Given the description of an element on the screen output the (x, y) to click on. 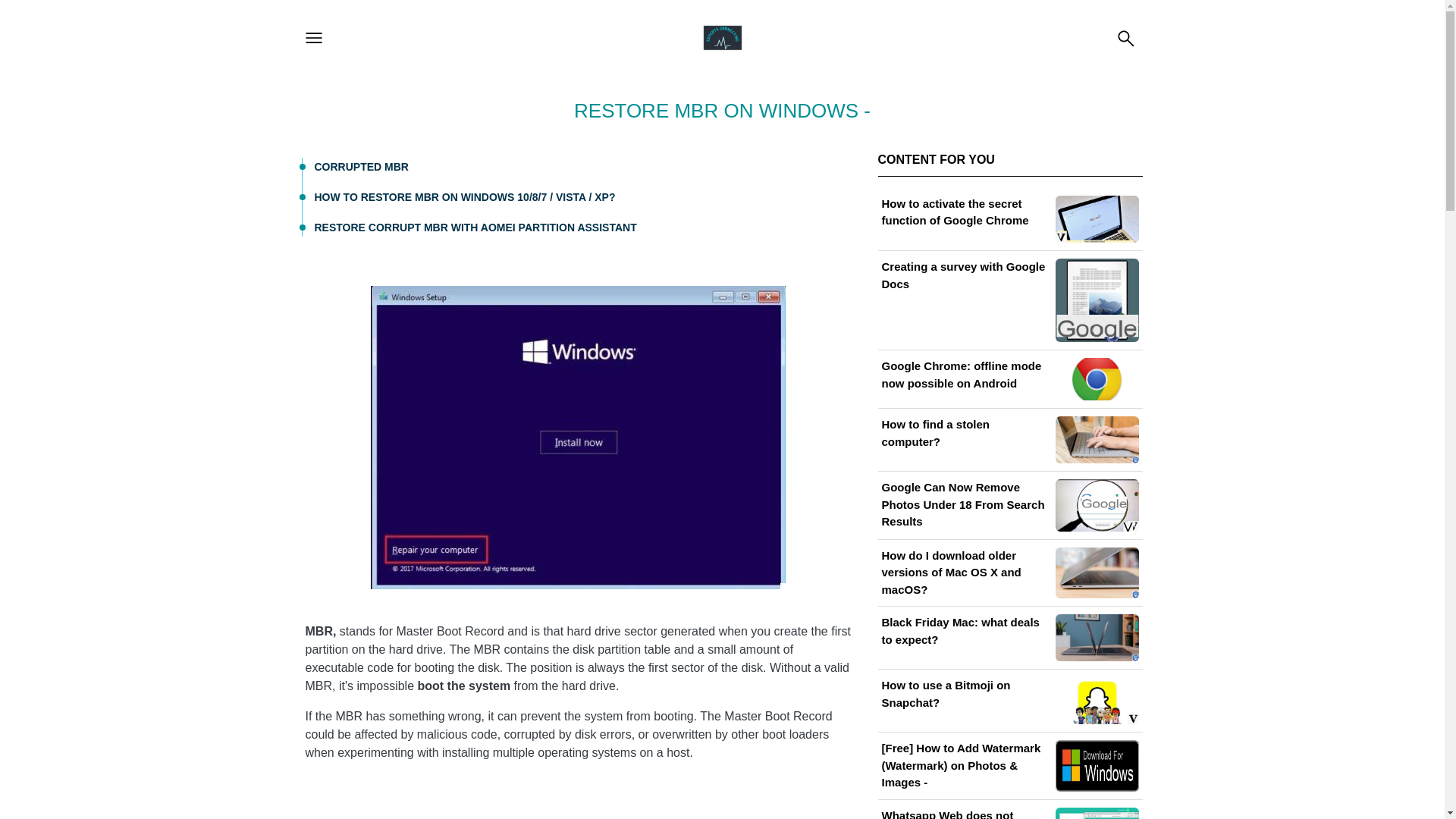
Black Friday Mac: what deals to expect? (1009, 637)
Whatsapp Web does not Upload QR Code - (1009, 813)
Creating a survey with Google Docs (1009, 300)
Google Chrome: offline mode now possible on Android (1009, 378)
RESTORE CORRUPT MBR WITH AOMEI PARTITION ASSISTANT (475, 227)
How to activate the secret function of Google Chrome (1009, 219)
How do I download older versions of Mac OS X and macOS? (1009, 572)
How to activate the secret function of Google Chrome (1009, 219)
Google Can Now Remove Photos Under 18 From Search Results (1009, 505)
Black Friday Mac: what deals to expect? (1009, 637)
